Given the description of an element on the screen output the (x, y) to click on. 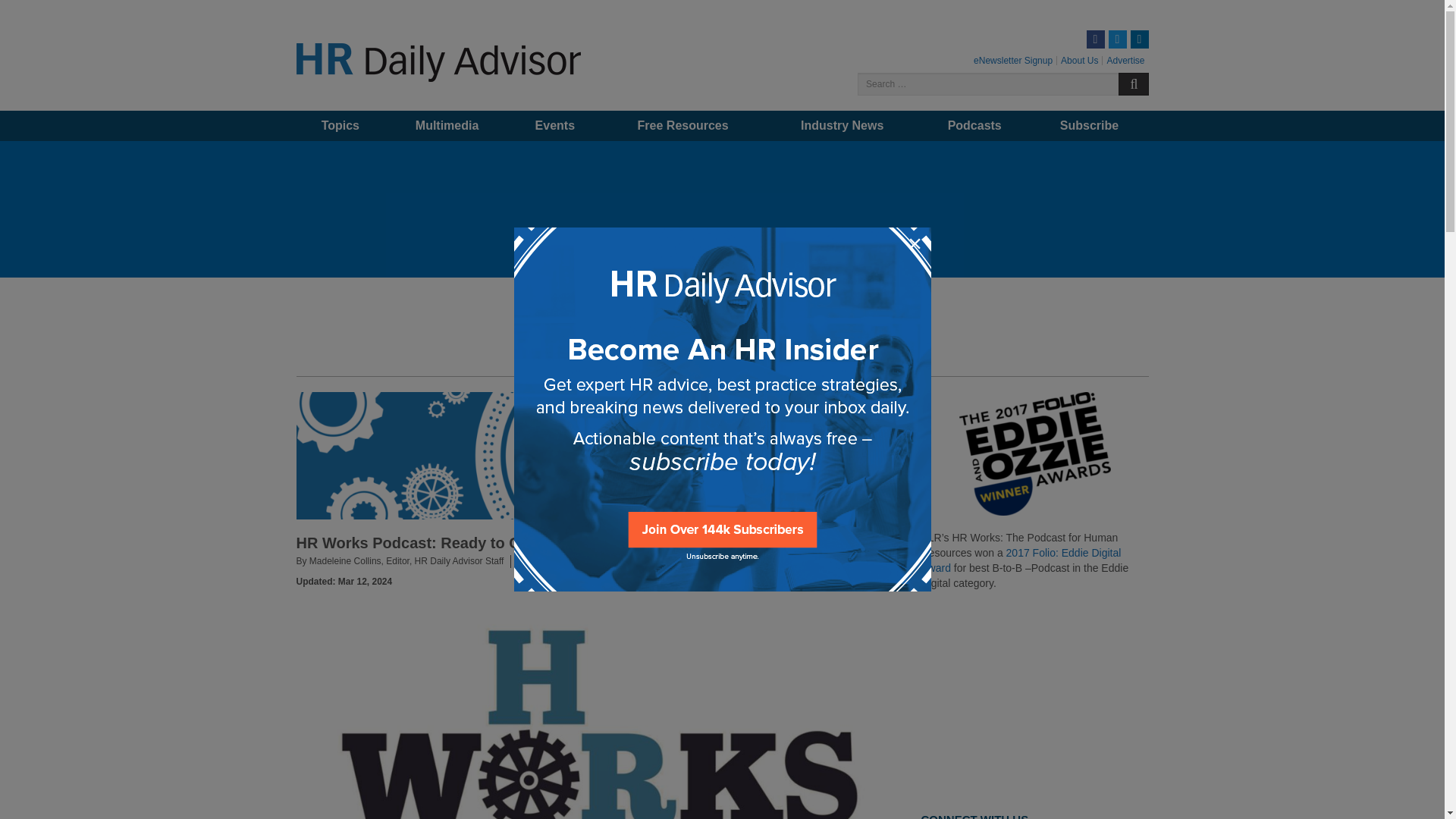
Facebook (1094, 39)
Free Resources (682, 125)
Advertise (1125, 60)
eNewsletter Signup (1013, 60)
LinkedIn (1138, 39)
3rd party ad content (1034, 701)
Multimedia (446, 125)
About Us (1079, 60)
Events (554, 125)
